Given the description of an element on the screen output the (x, y) to click on. 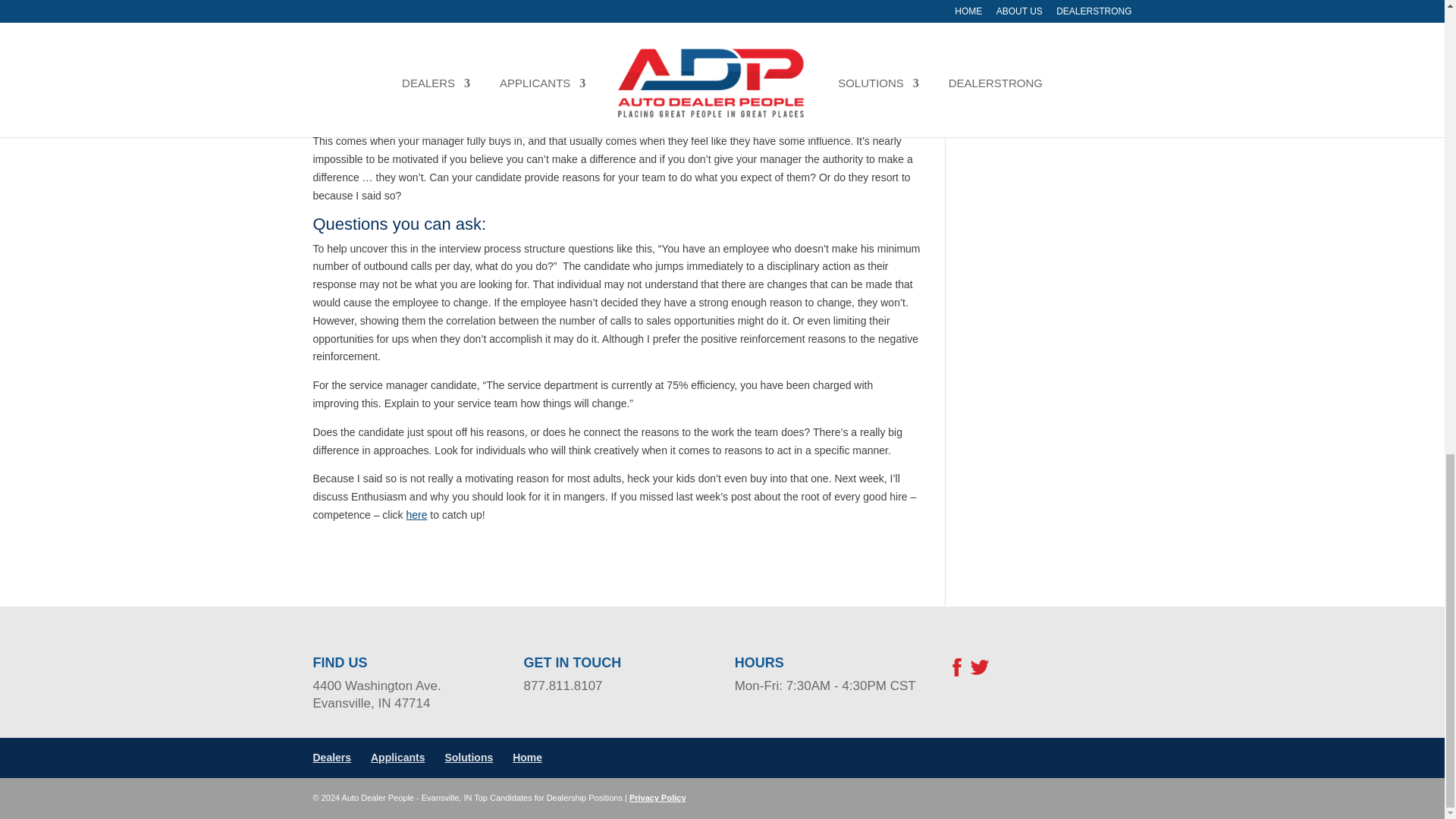
here (416, 514)
Find us on facebook (956, 674)
Follow us on Twitter (979, 674)
Finding Talent Using Cmetrics Part 4 (416, 514)
